Given the description of an element on the screen output the (x, y) to click on. 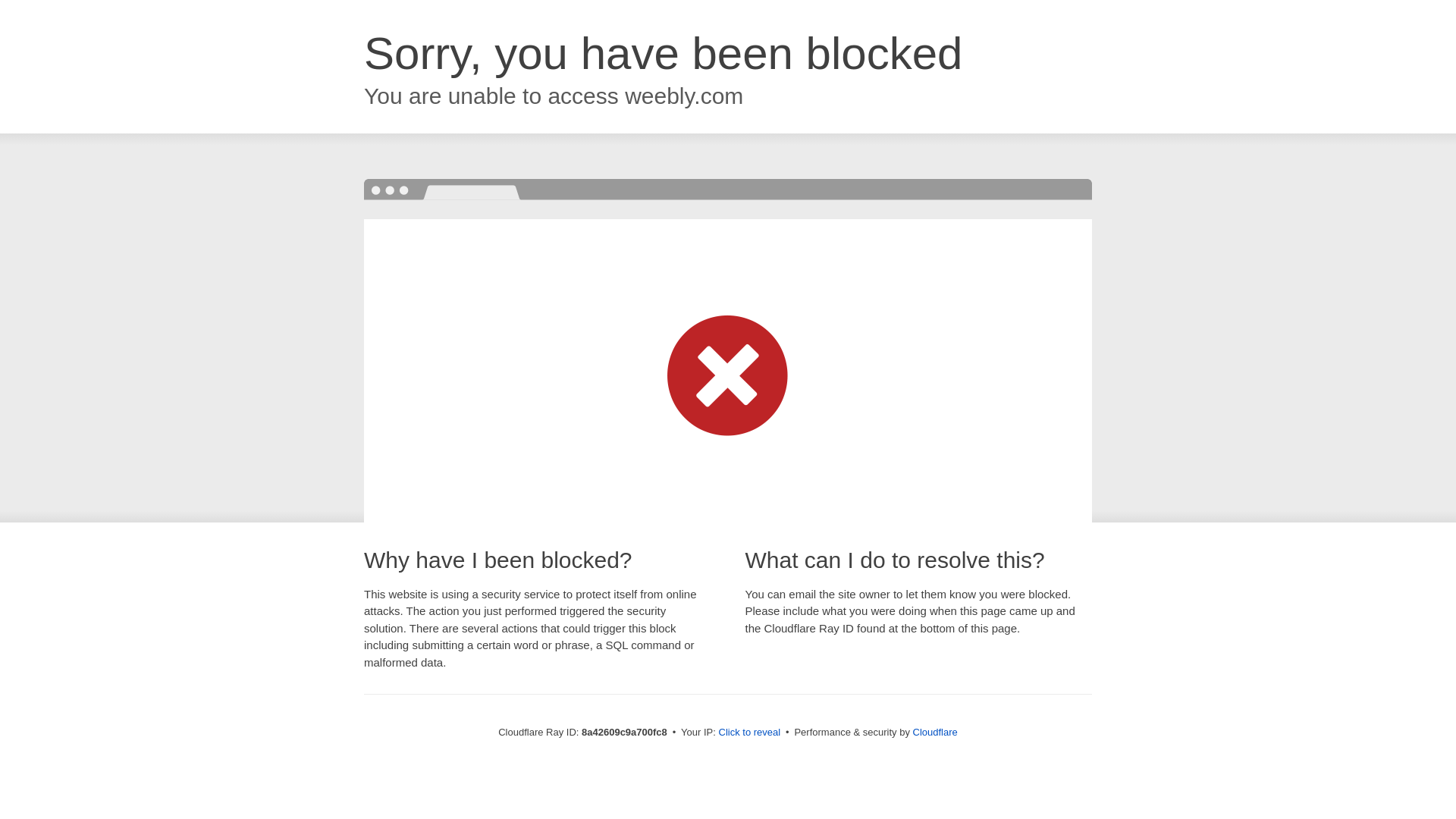
Click to reveal (749, 732)
Cloudflare (935, 731)
